Given the description of an element on the screen output the (x, y) to click on. 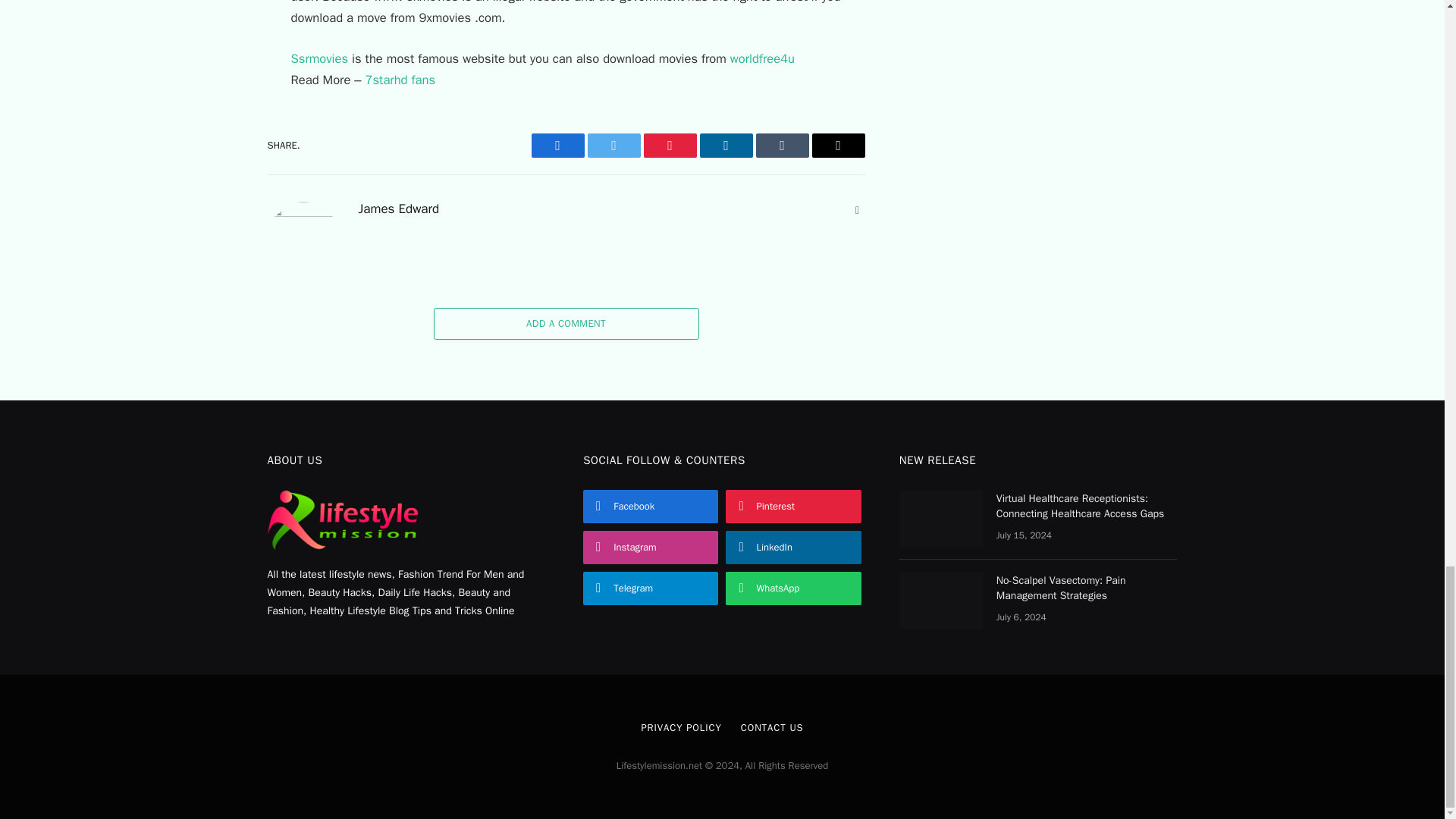
7starhd fans (400, 79)
Ssrmovies (320, 58)
Facebook (557, 145)
worldfree4u (760, 58)
